Given the description of an element on the screen output the (x, y) to click on. 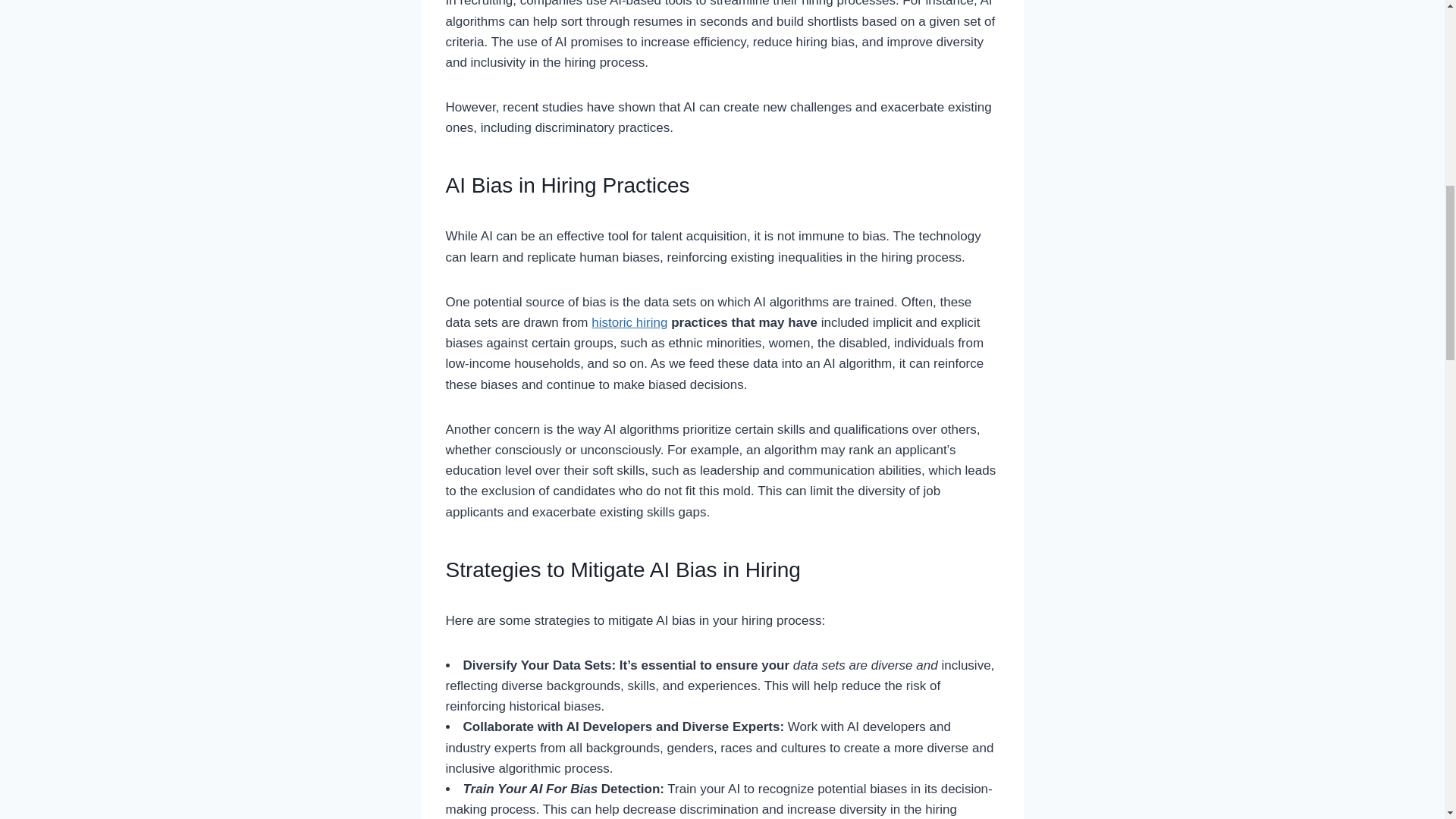
historic hiring (628, 322)
